Given the description of an element on the screen output the (x, y) to click on. 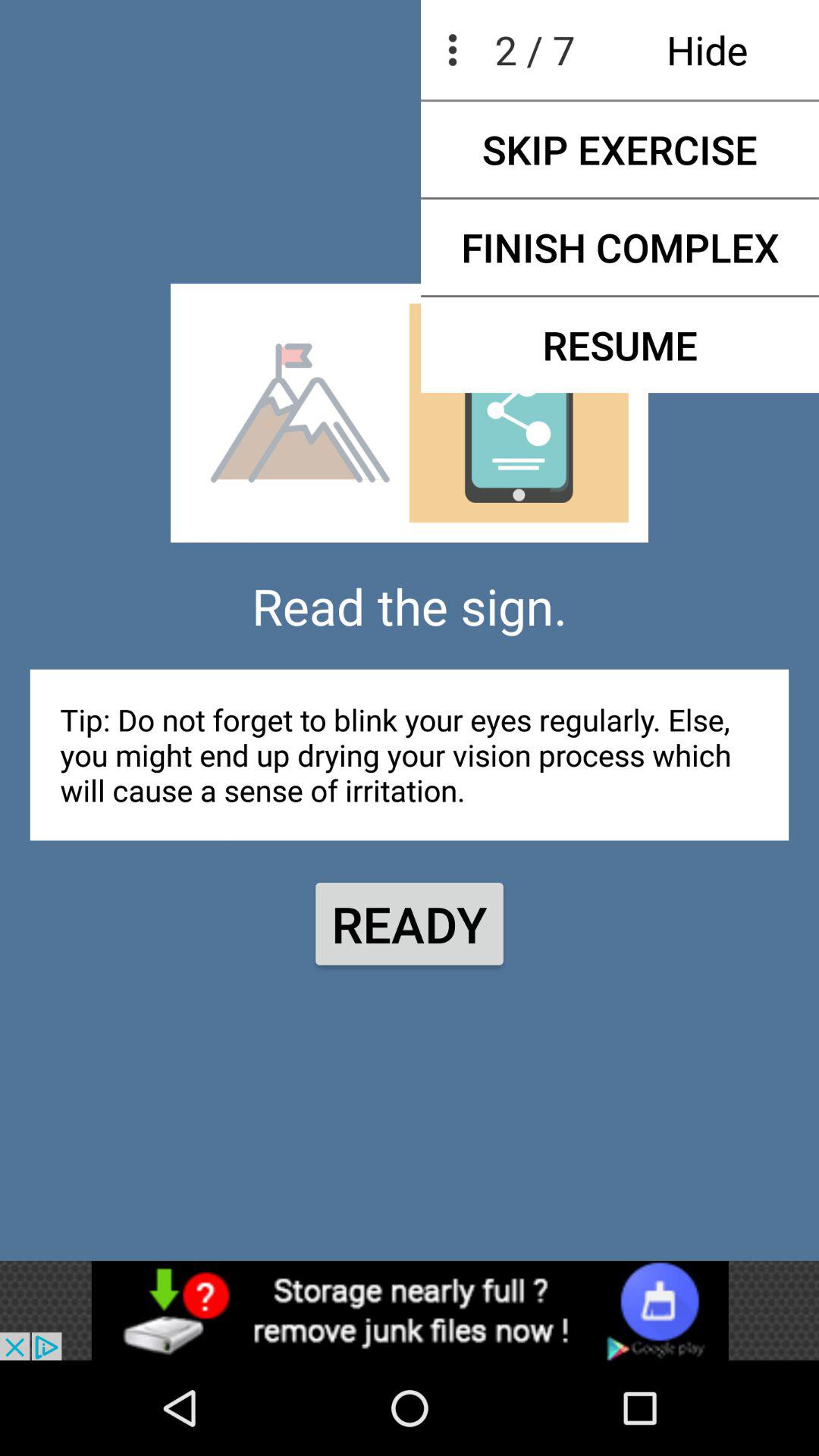
advertisement page (409, 1310)
